Given the description of an element on the screen output the (x, y) to click on. 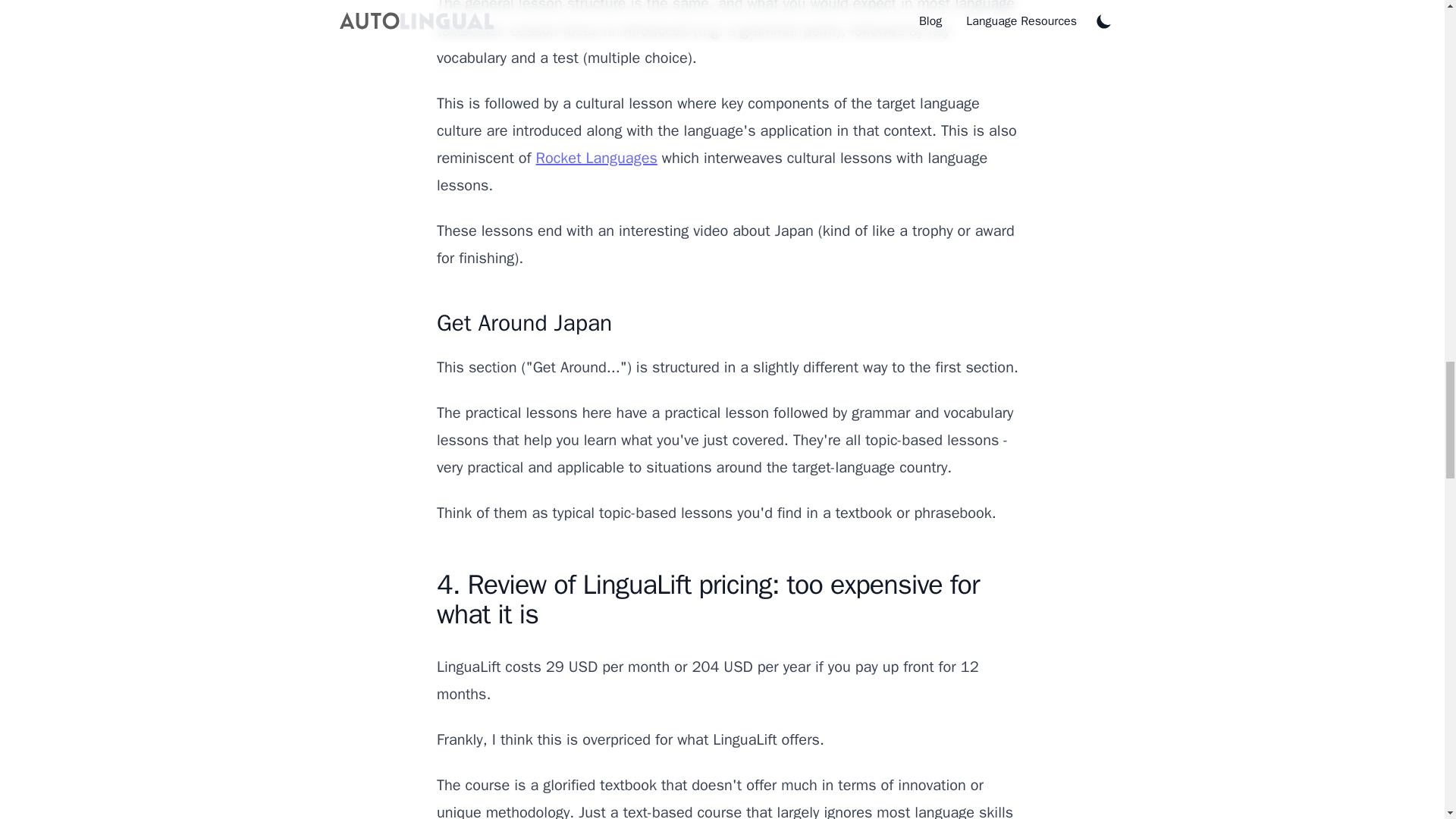
Rocket Languages (596, 157)
